Given the description of an element on the screen output the (x, y) to click on. 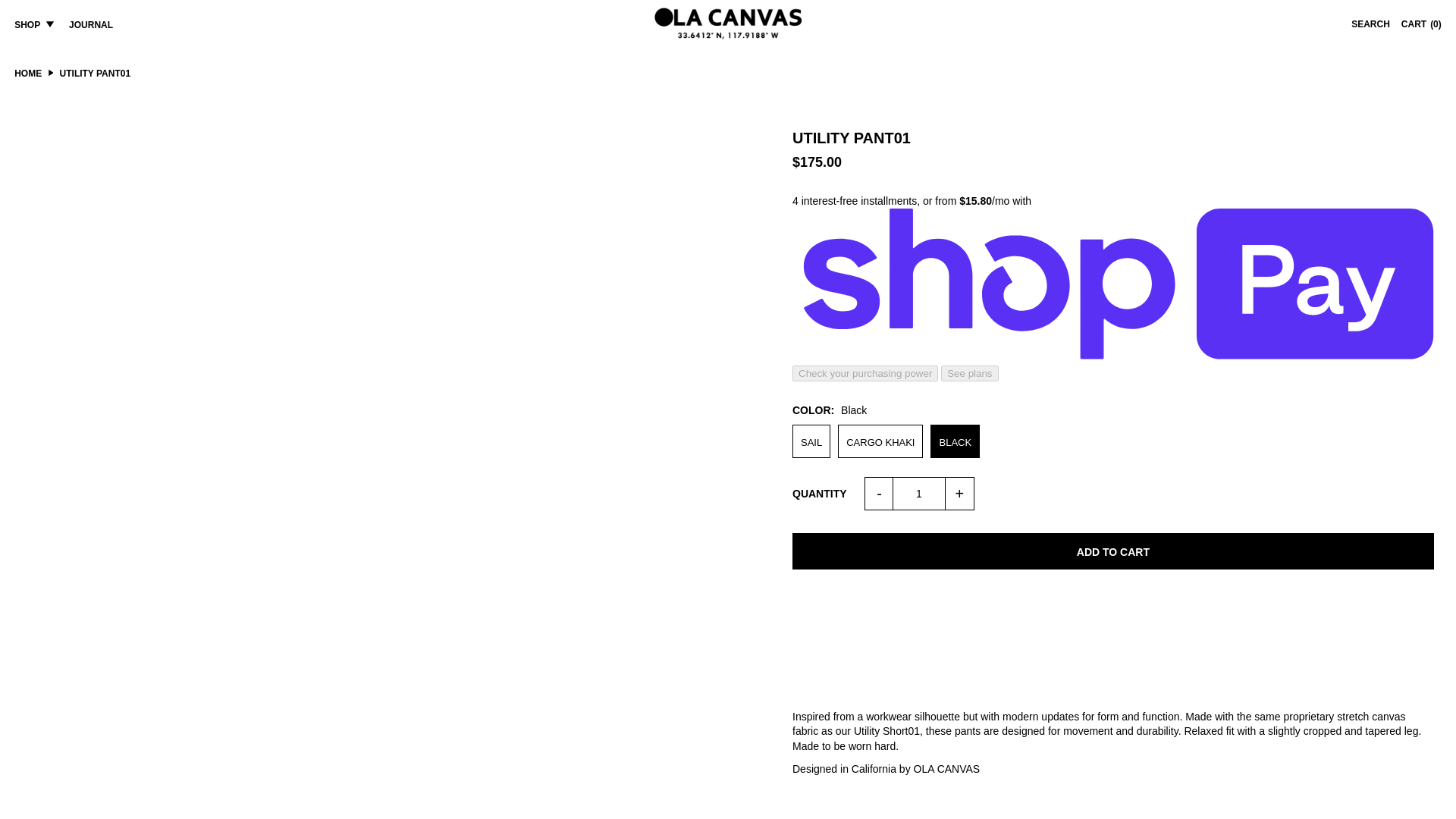
SEARCH (1370, 23)
UTILITY PANT01 (954, 441)
Cart (1420, 23)
JOURNAL (95, 24)
UTILITY PANT01 (879, 441)
SHOP (32, 24)
Home (28, 72)
Add to Cart (1113, 551)
1 (918, 493)
UTILITY PANT01 (811, 441)
